Given the description of an element on the screen output the (x, y) to click on. 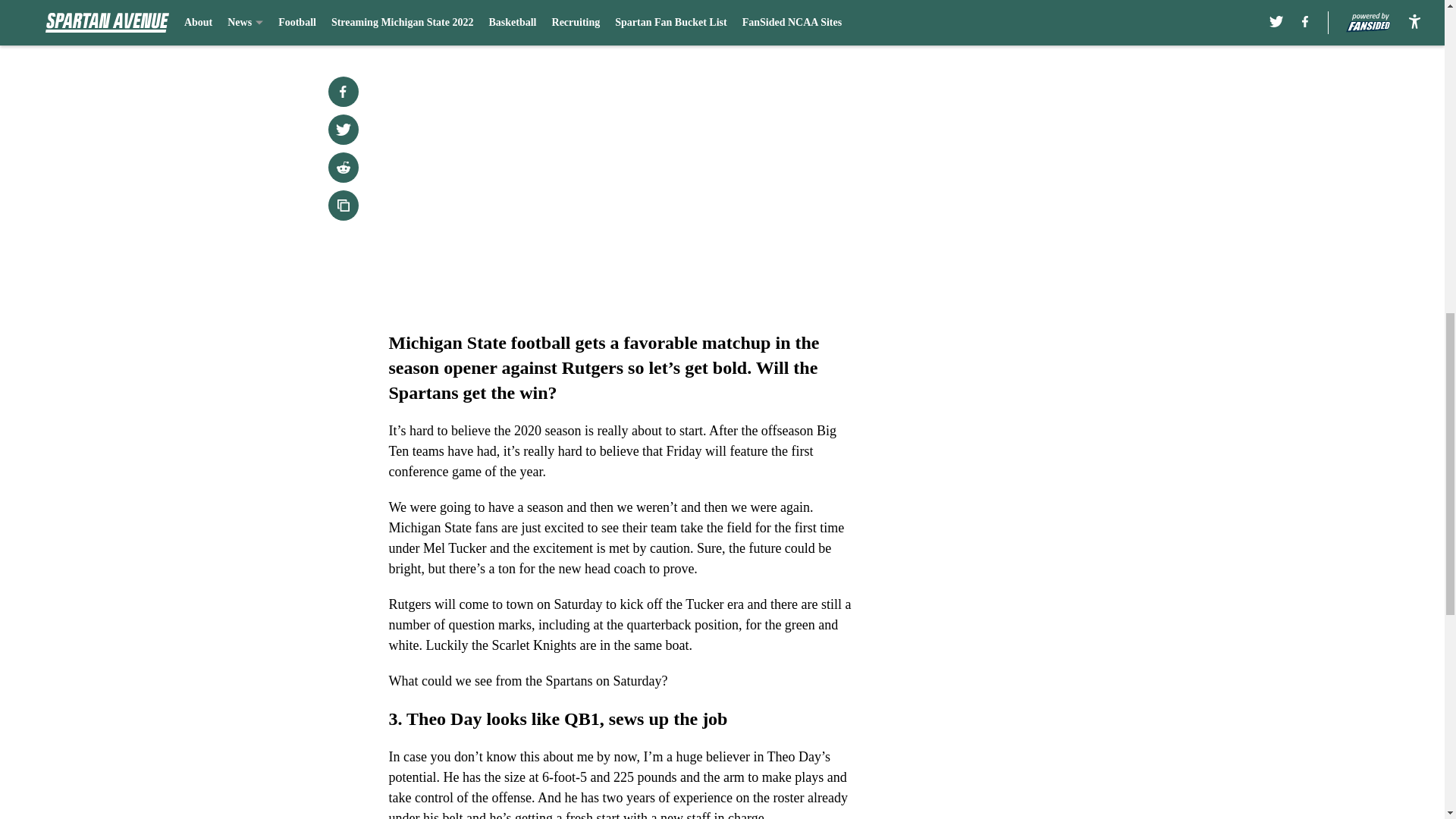
Next (813, 20)
Prev (433, 20)
